Given the description of an element on the screen output the (x, y) to click on. 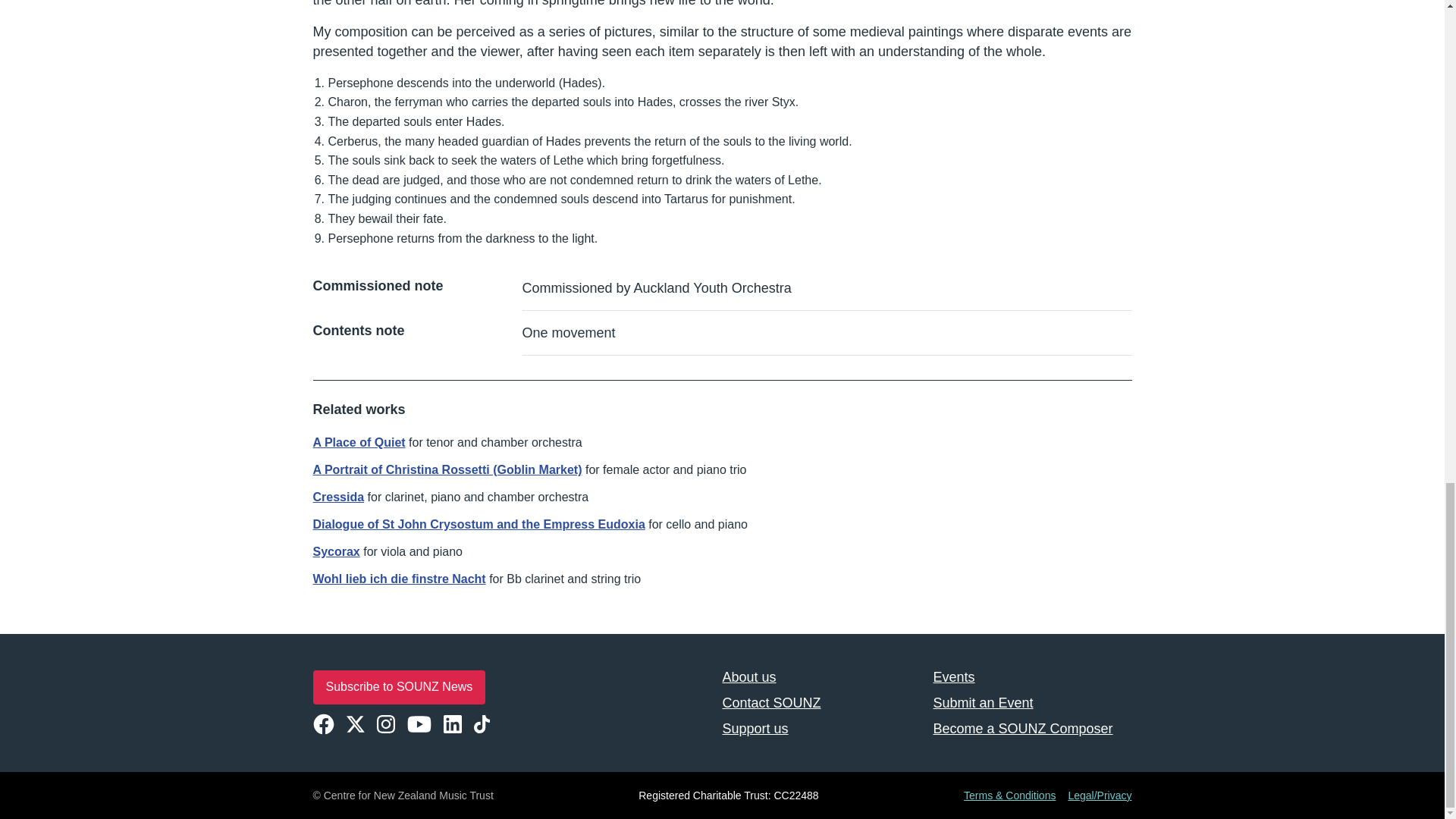
A Place of Quiet (358, 441)
Sycorax (336, 551)
Dialogue of St John Crysostum and the Empress Eudoxia (479, 523)
Subscribe to SOUNZ News (398, 687)
Wohl lieb ich die finstre Nacht (398, 578)
Cressida (338, 496)
